Given the description of an element on the screen output the (x, y) to click on. 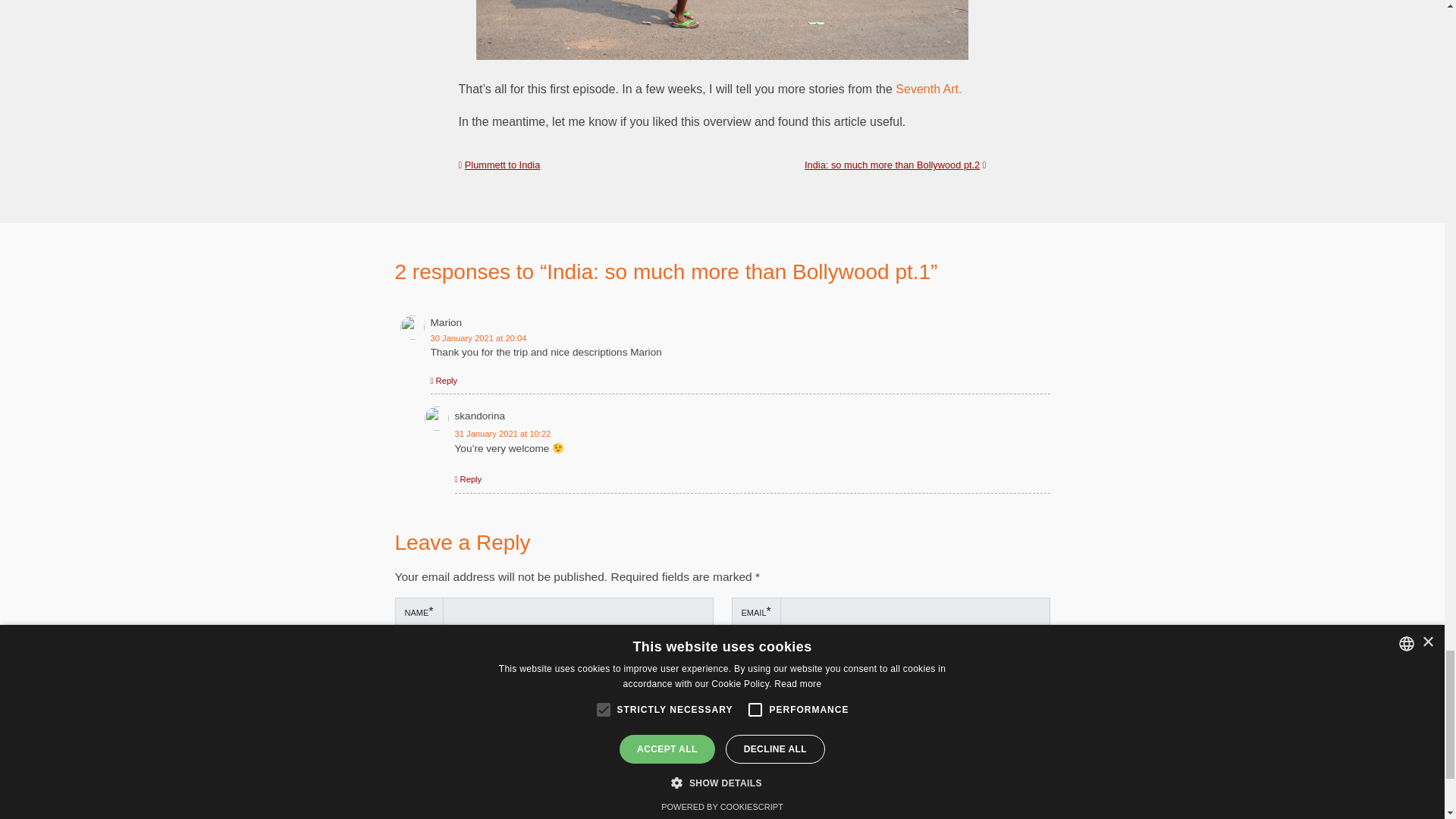
yes (399, 741)
Post Comment (453, 777)
